Given the description of an element on the screen output the (x, y) to click on. 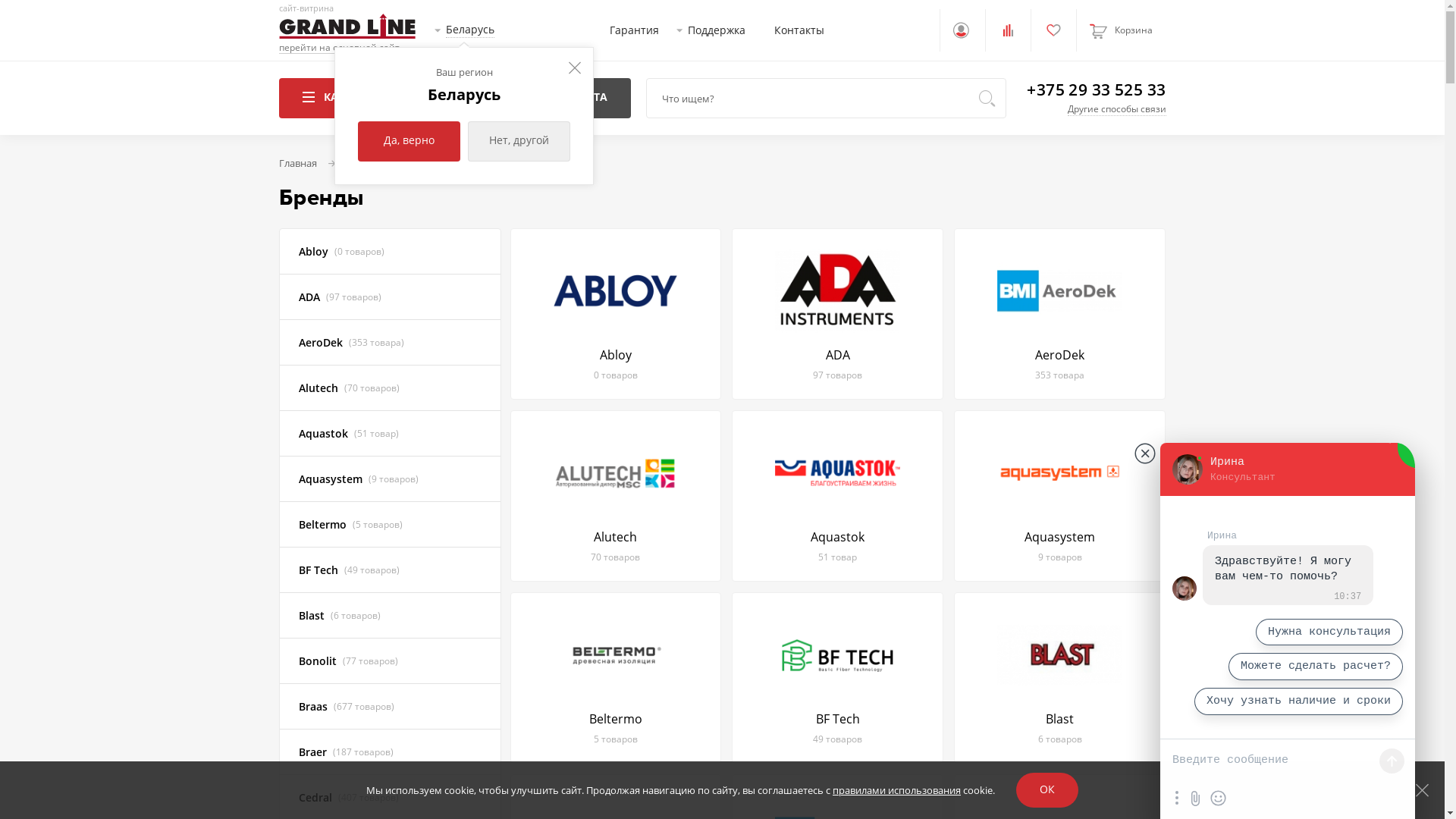
+375 29 33 525 33 Element type: text (1095, 89)
